Given the description of an element on the screen output the (x, y) to click on. 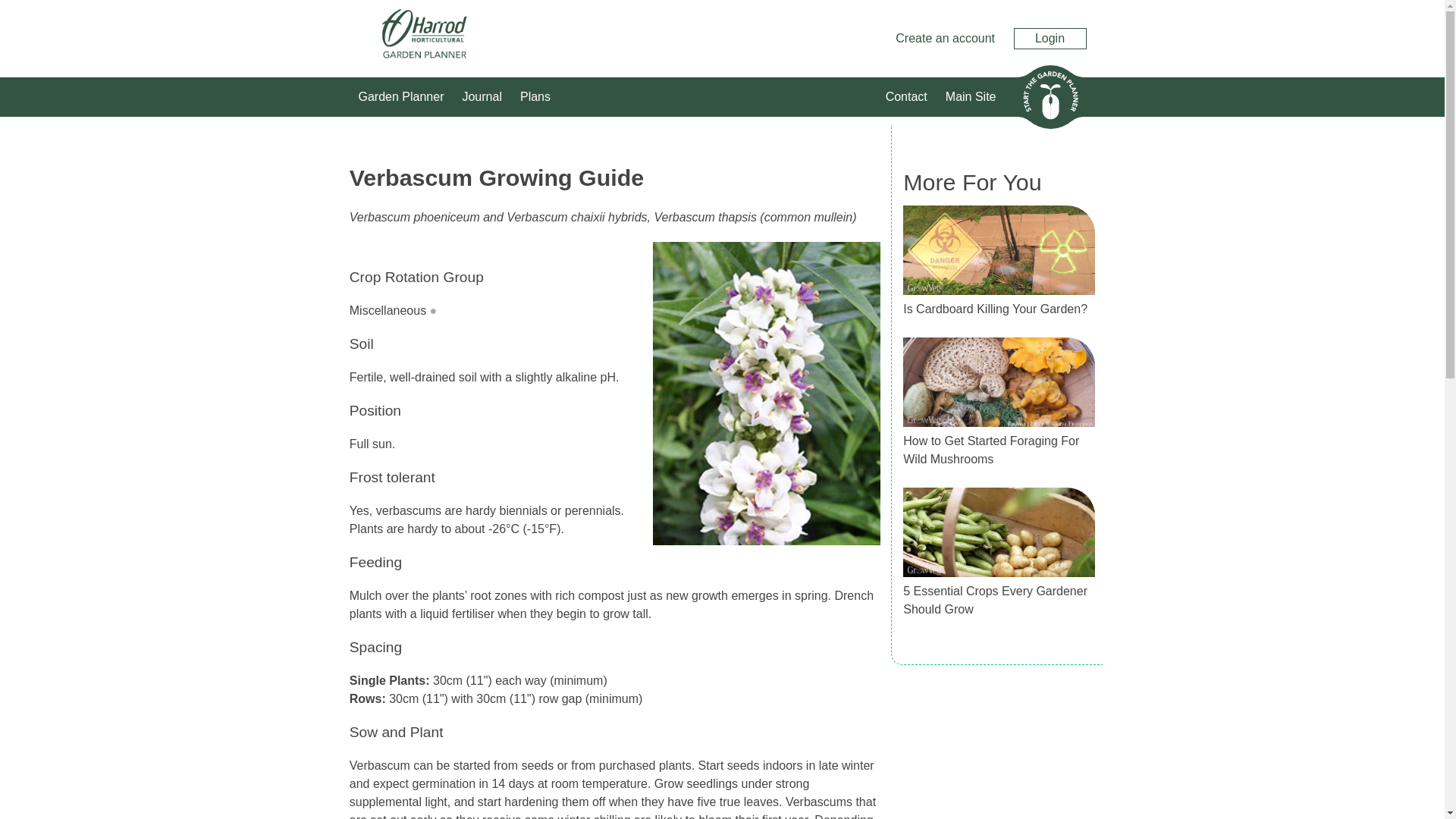
Main Site (969, 96)
Go back to the main website (969, 96)
Journal (480, 96)
5 Essential Crops Every Gardener Should Grow (994, 599)
Contact (906, 96)
Create an account (944, 38)
Is Cardboard Killing Your Garden? (994, 308)
How to Get Started Foraging For Wild Mushrooms (990, 450)
Login (1049, 38)
Garden Planner (401, 96)
